Given the description of an element on the screen output the (x, y) to click on. 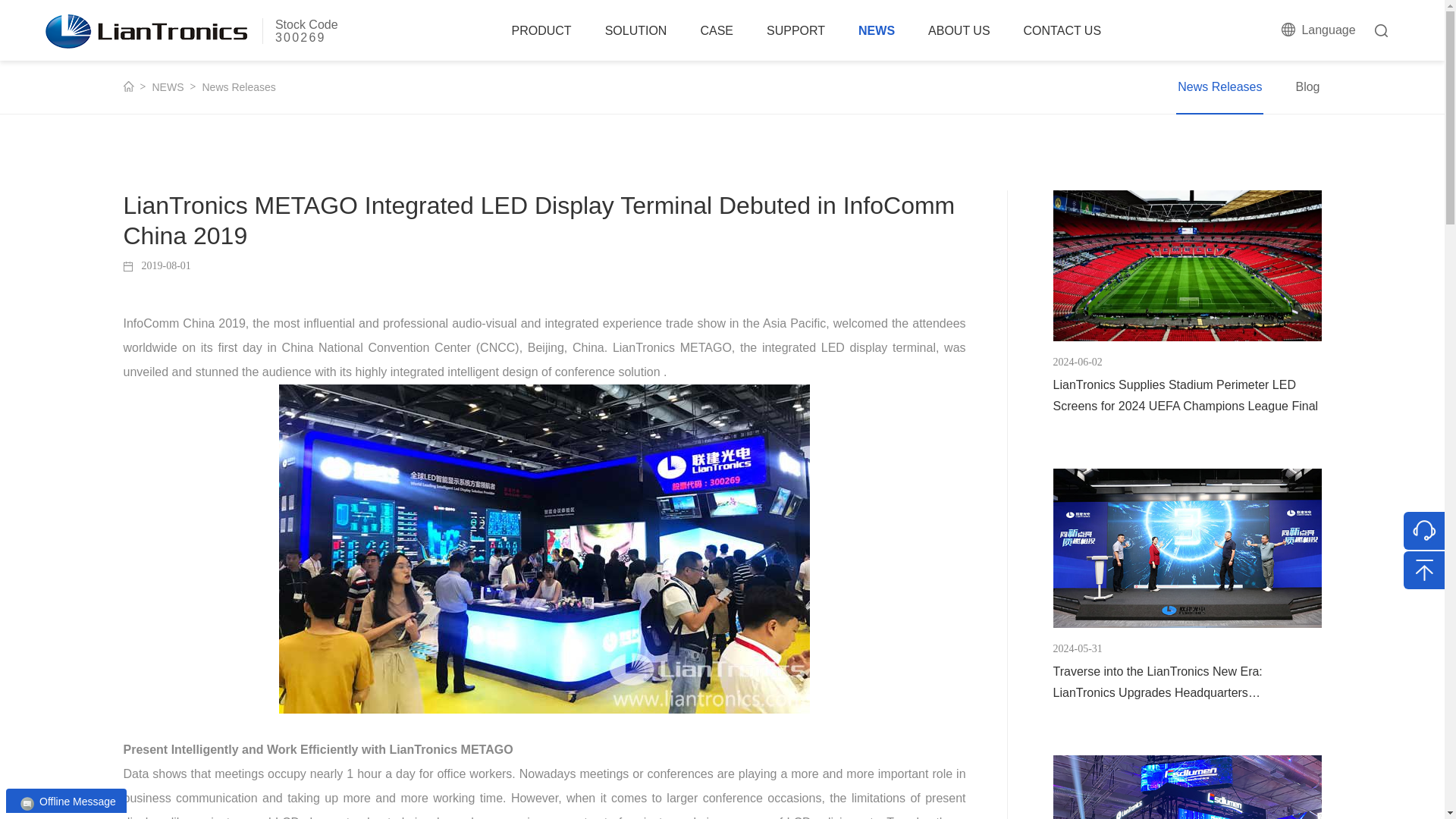
Language (1318, 30)
PRODUCT (191, 30)
